Given the description of an element on the screen output the (x, y) to click on. 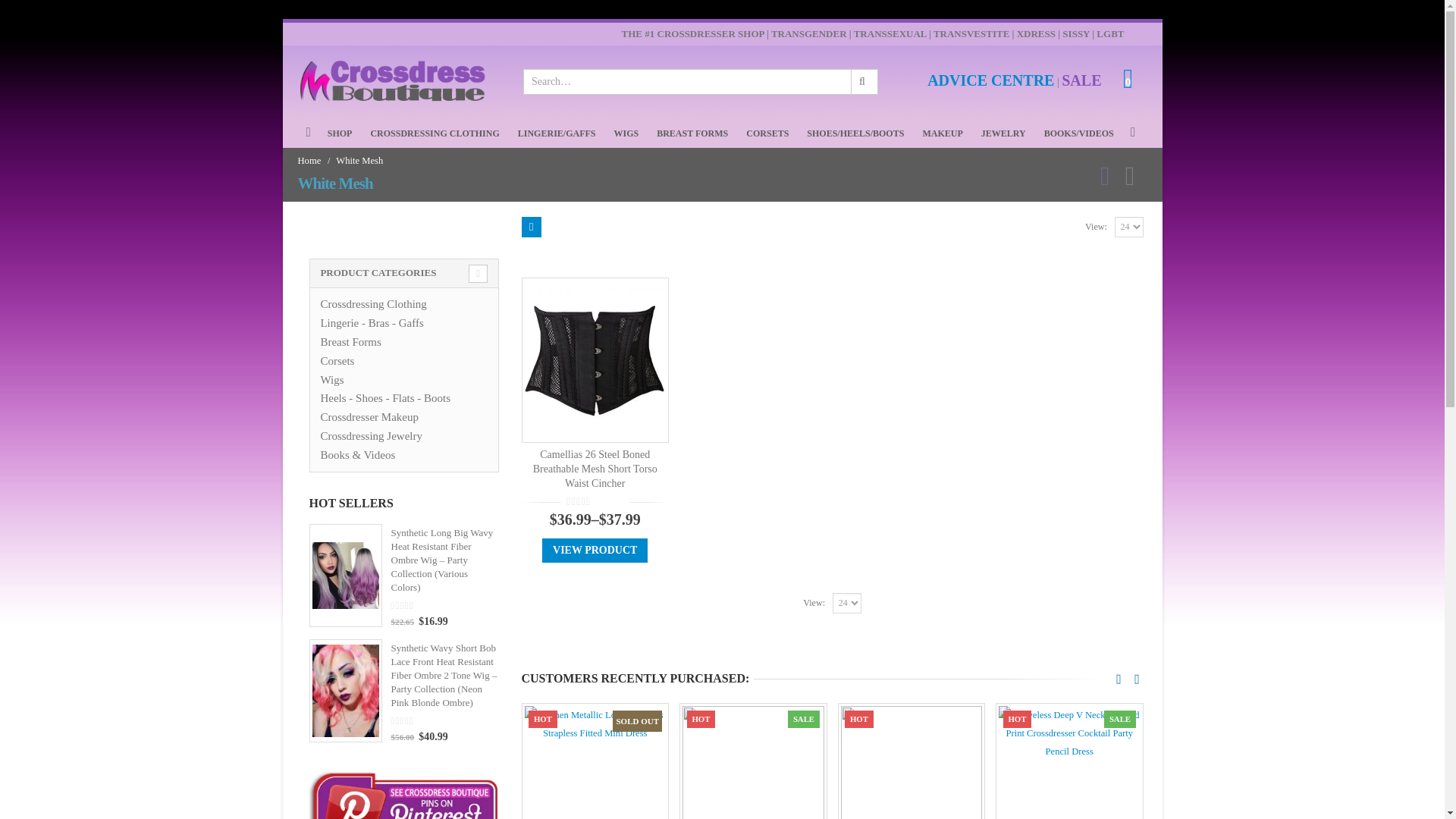
SALE (1080, 81)
WIGS (625, 132)
ADVICE CENTRE (990, 81)
SHOP (339, 132)
Search (862, 81)
CROSSDRESSING CLOTHING (433, 132)
Grid View (531, 227)
